Given the description of an element on the screen output the (x, y) to click on. 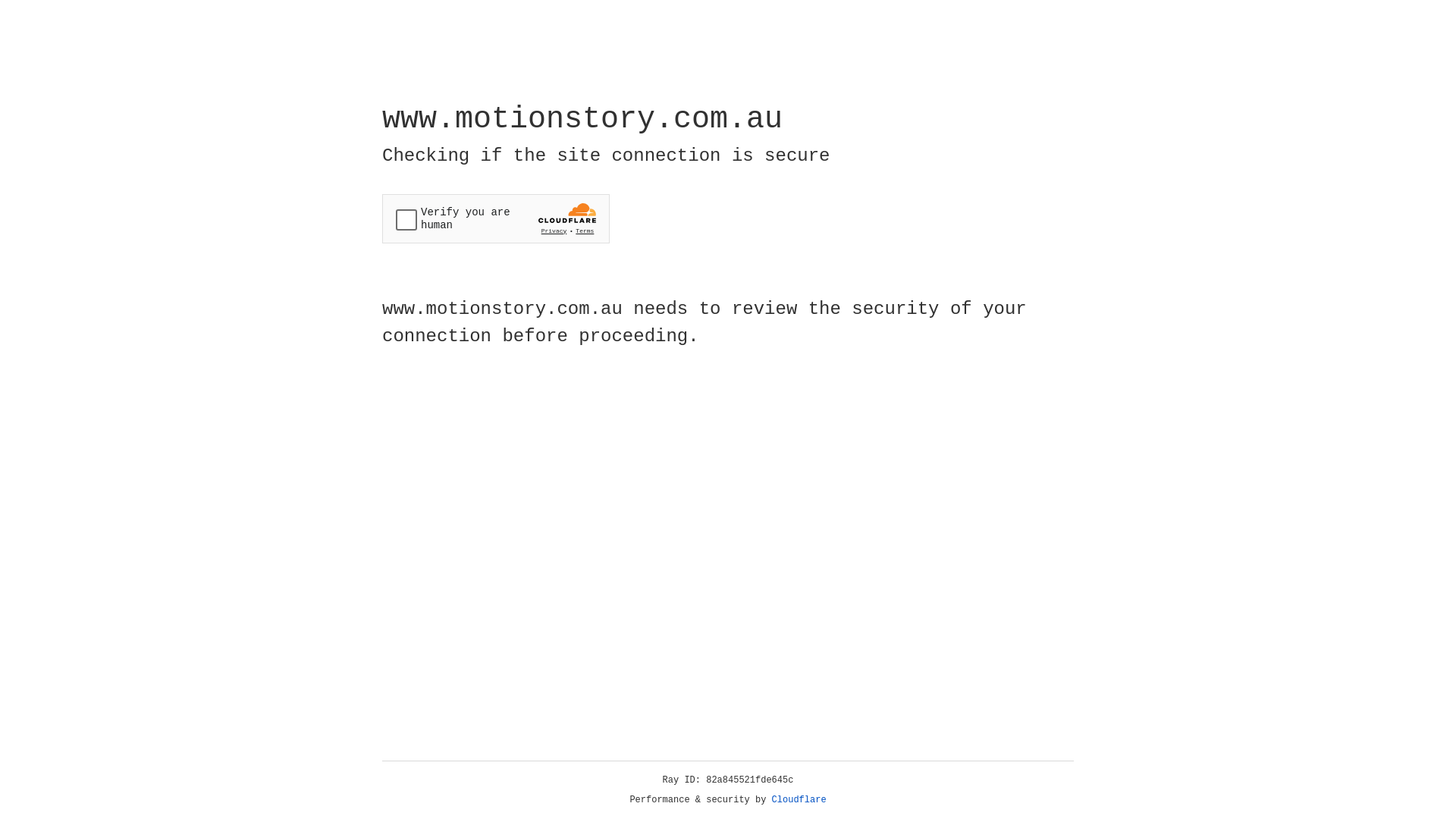
Cloudflare Element type: text (798, 799)
Widget containing a Cloudflare security challenge Element type: hover (495, 218)
